Given the description of an element on the screen output the (x, y) to click on. 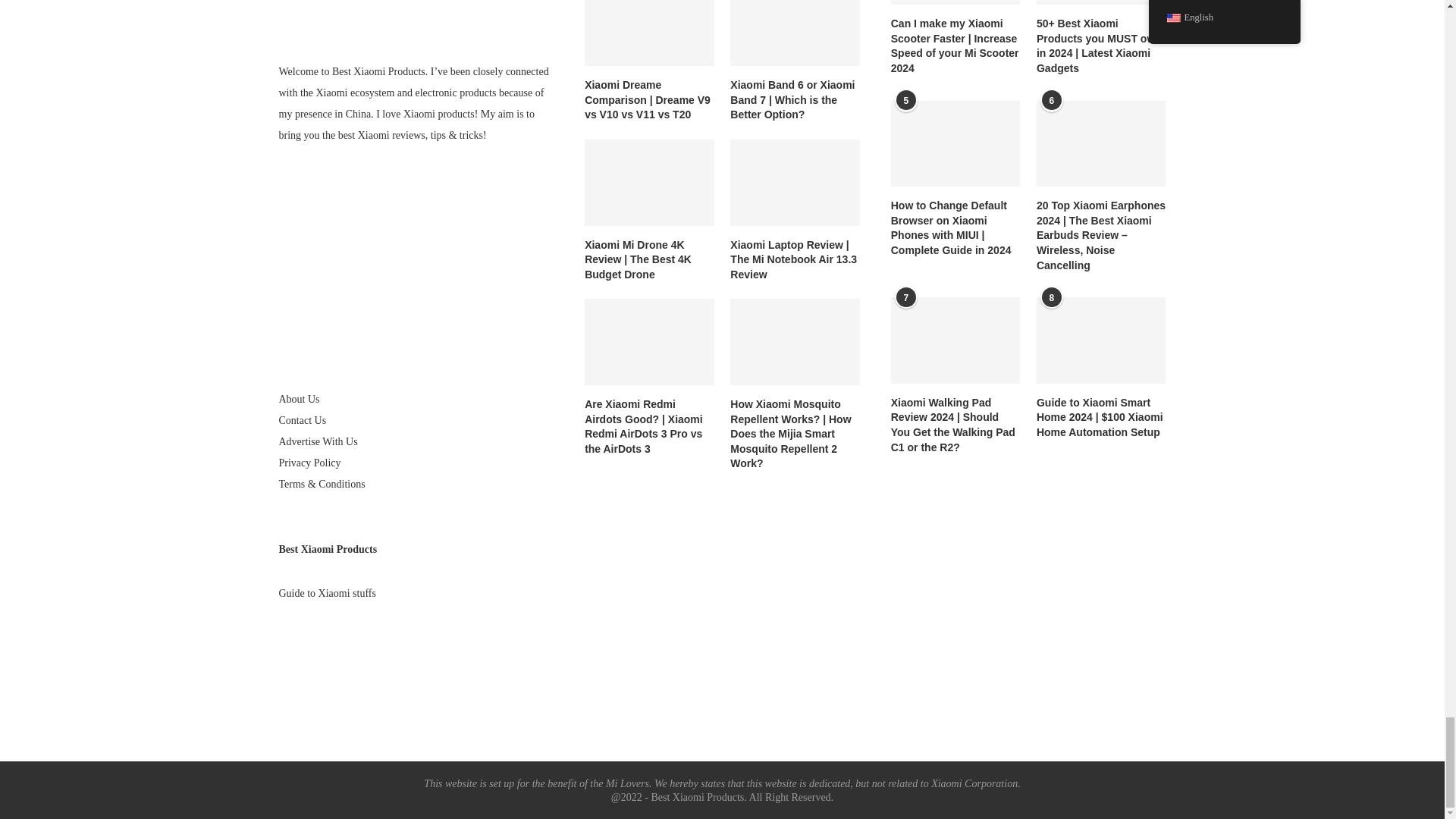
Privacy Policy (309, 462)
Contact Us (302, 419)
Advertise With Us (318, 441)
About Us (299, 398)
